Given the description of an element on the screen output the (x, y) to click on. 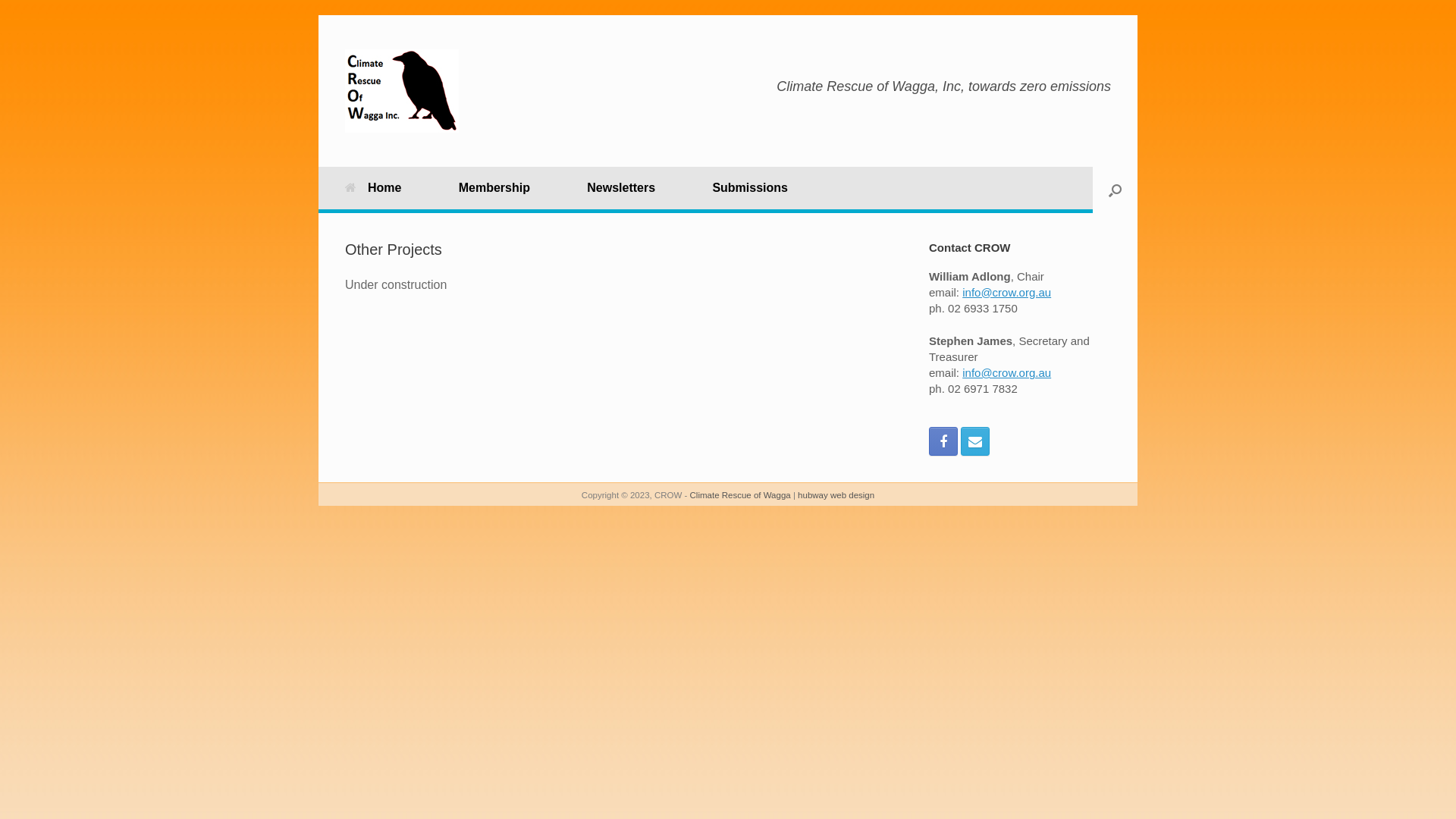
Climate Rescue of Wagga Element type: text (740, 494)
Membership Element type: text (494, 187)
Newsletters Element type: text (620, 187)
hubway web design Element type: text (835, 494)
02 6933 1750 Element type: text (982, 307)
C.R.O.W Facebook Element type: hover (942, 440)
C.R.O.W Element type: hover (401, 90)
Home Element type: text (372, 187)
C.R.O.W Email Element type: hover (974, 440)
info@crow.org.au Element type: text (1006, 291)
02 6971 7832 Element type: text (982, 388)
Skip to content Element type: text (317, 14)
info@crow.org.au Element type: text (1006, 372)
Submissions Element type: text (749, 187)
